Given the description of an element on the screen output the (x, y) to click on. 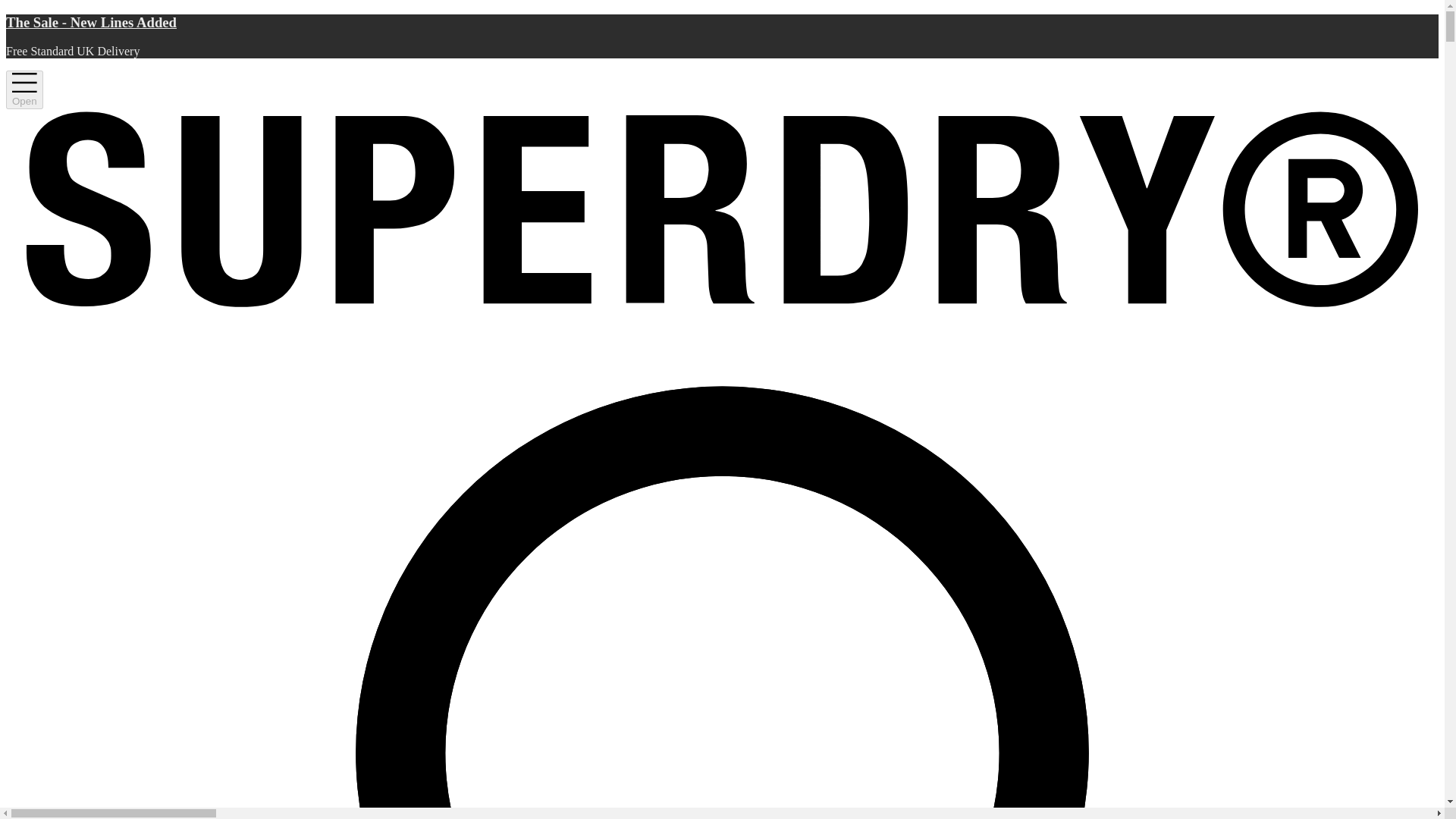
My Account (1362, 107)
Star (829, 317)
Add to bag (998, 517)
Star (899, 317)
Reset (1413, 160)
Add to wish list (1210, 517)
ArrowRight (766, 486)
Star (847, 317)
Heart (1385, 108)
Next (767, 486)
BagFilled (1409, 108)
Superdry Logo - Back to Home (77, 108)
The Sale - New Lines Added (722, 28)
Next (767, 486)
Wish List (1385, 107)
